Given the description of an element on the screen output the (x, y) to click on. 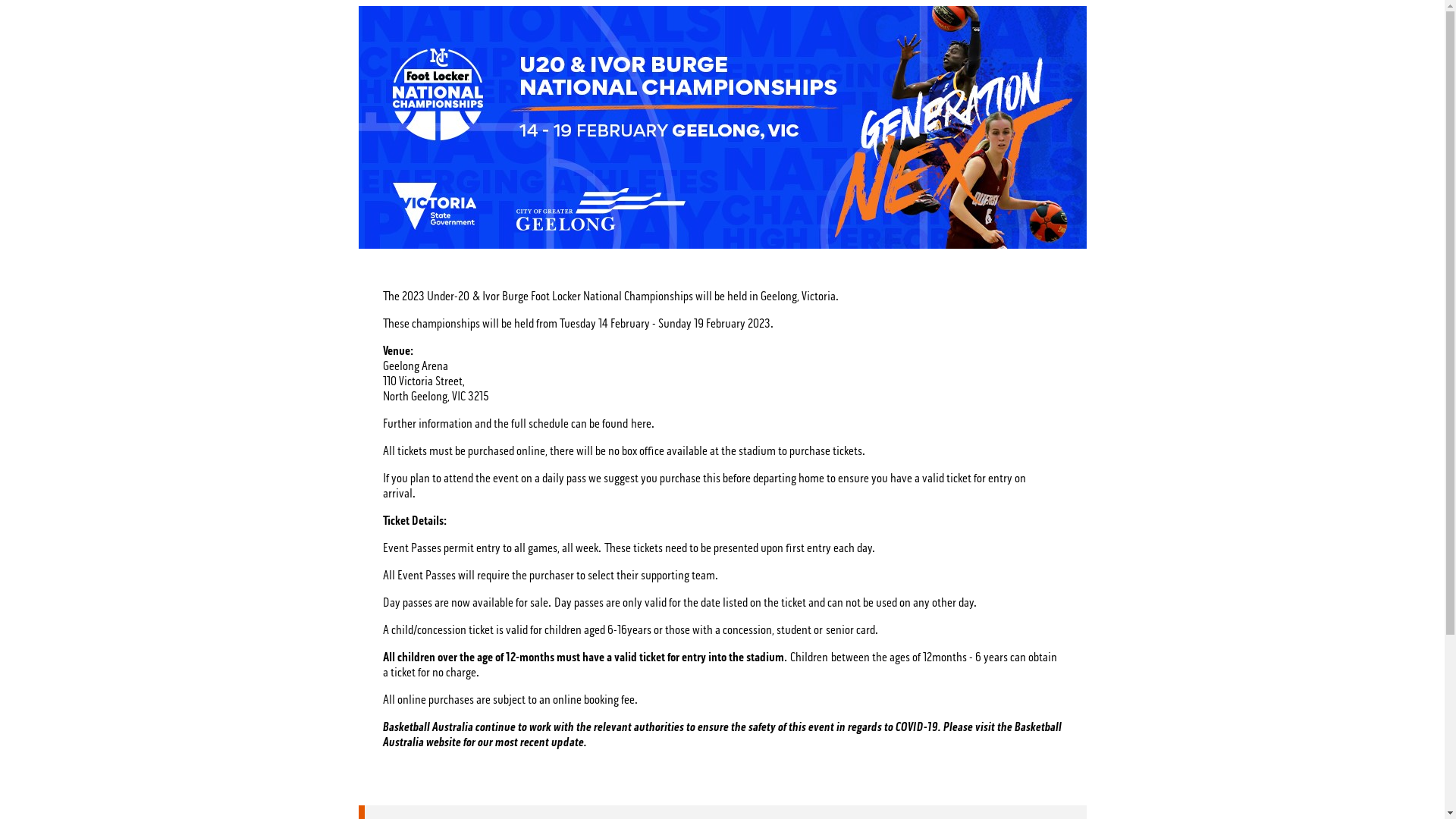
here Element type: text (640, 423)
Basketball Australia website Element type: text (721, 734)
